Given the description of an element on the screen output the (x, y) to click on. 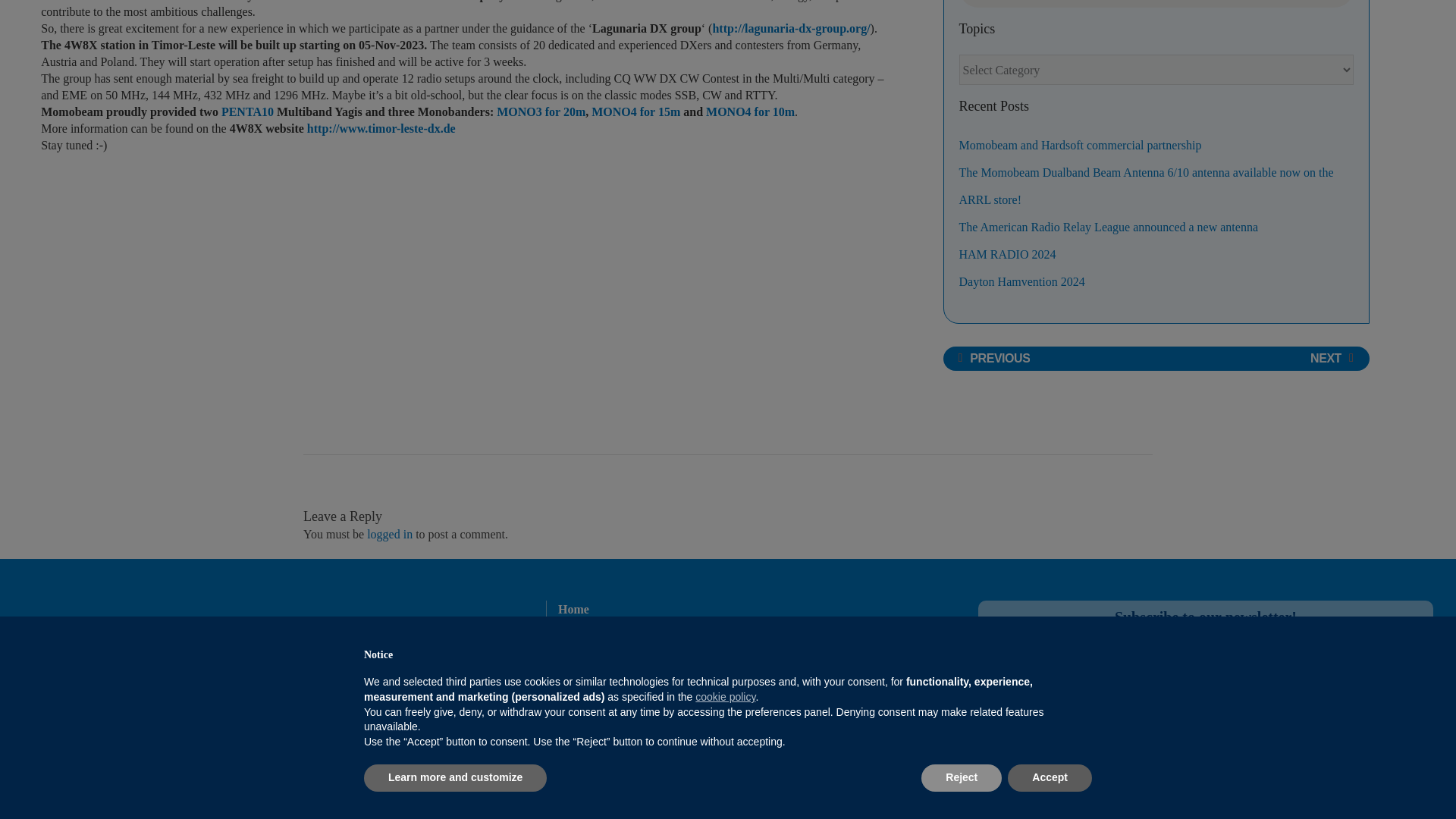
Search (1335, 3)
Search (1335, 3)
Search (1335, 3)
